Given the description of an element on the screen output the (x, y) to click on. 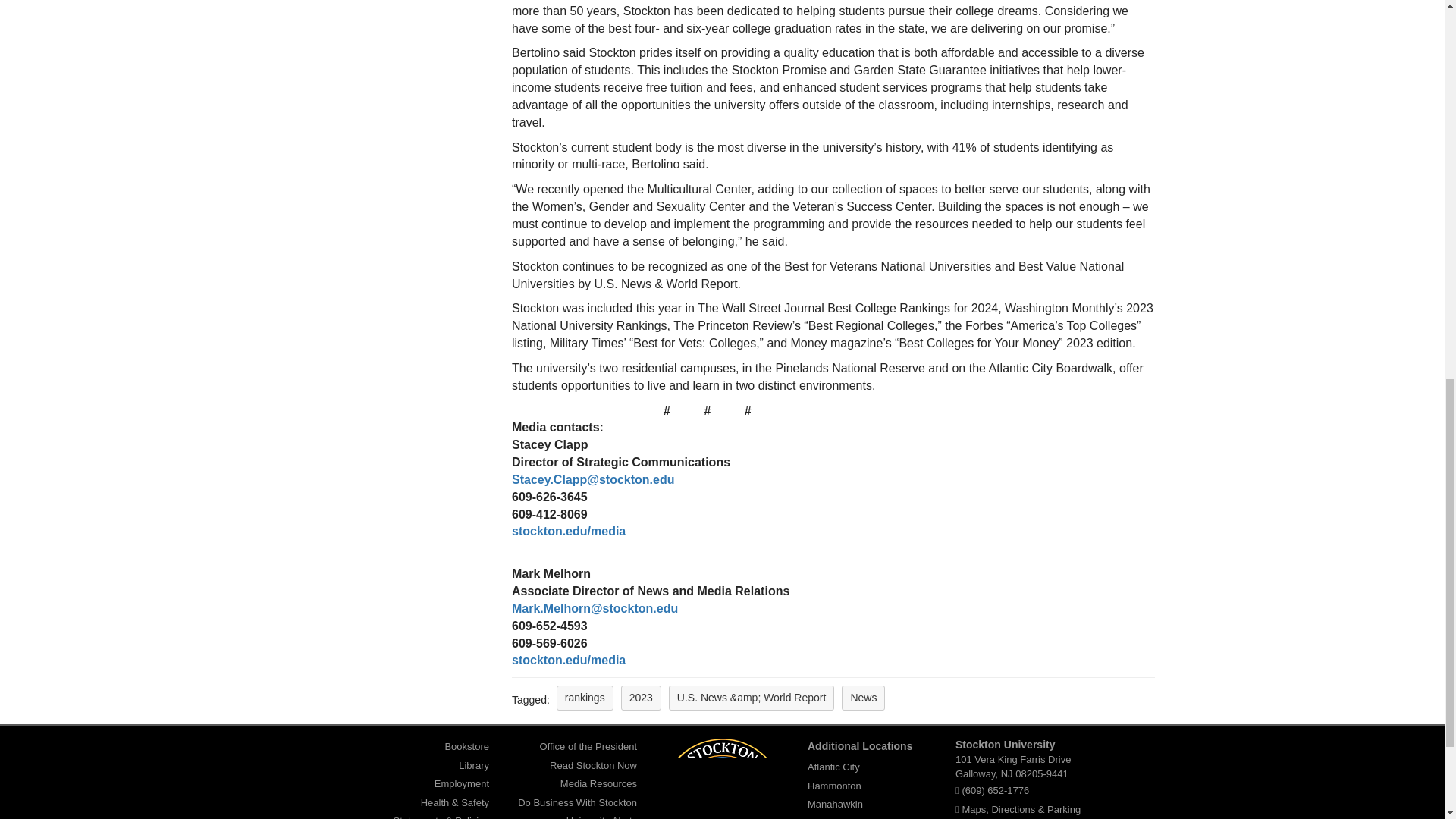
2023 (641, 697)
News (863, 697)
Office of the President (588, 746)
Call with Google Voice (994, 790)
rankings (584, 697)
